Given the description of an element on the screen output the (x, y) to click on. 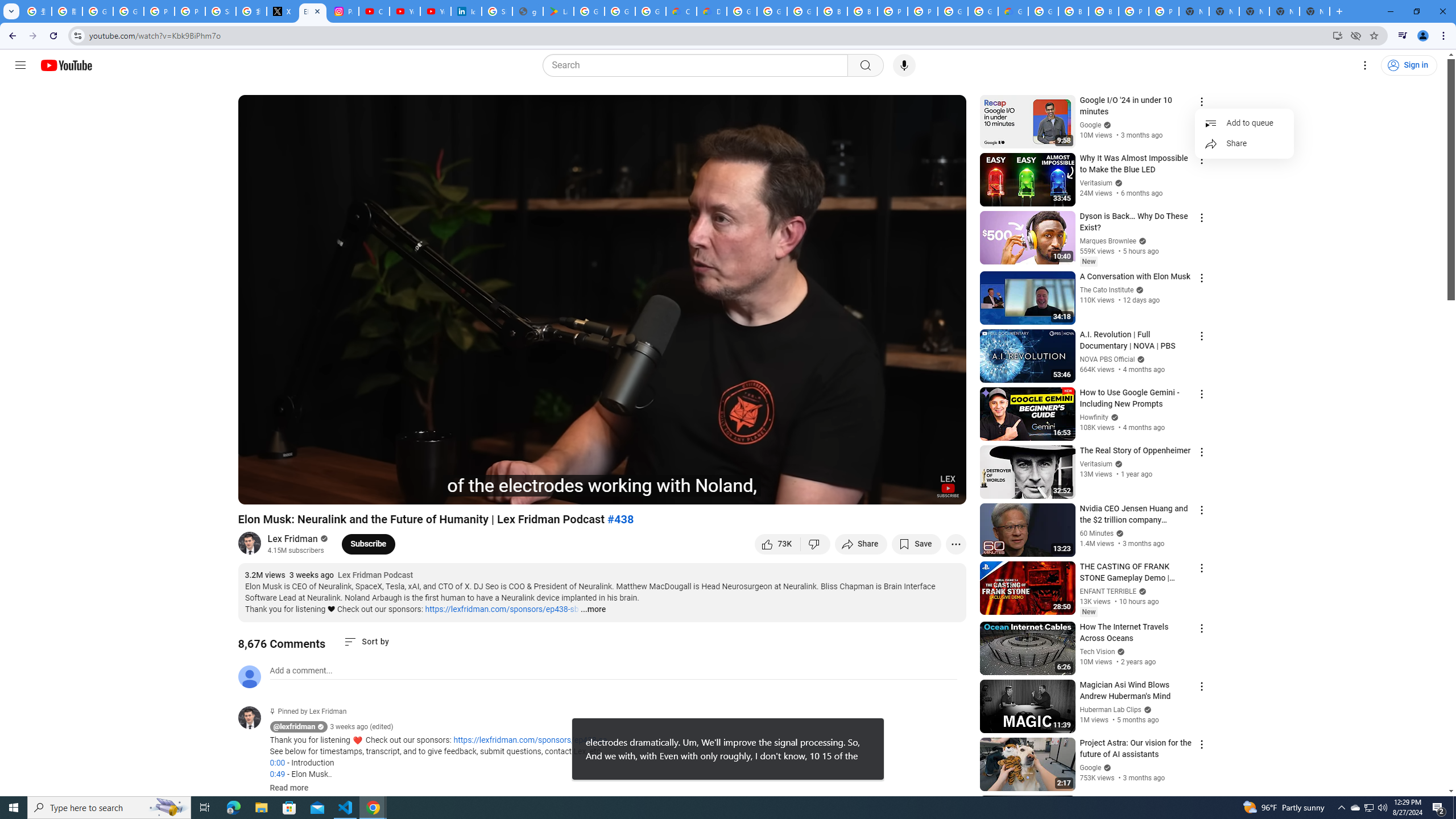
New Tab (1314, 11)
Subscribe to Lex Fridman. (368, 543)
3 weeks ago (edited) (361, 726)
Mute (m) (312, 490)
Google Workspace - Specific Terms (619, 11)
YouTube Culture & Trends - YouTube Top 10, 2021 (434, 11)
Sign in - Google Accounts (220, 11)
Search with your voice (903, 65)
